Given the description of an element on the screen output the (x, y) to click on. 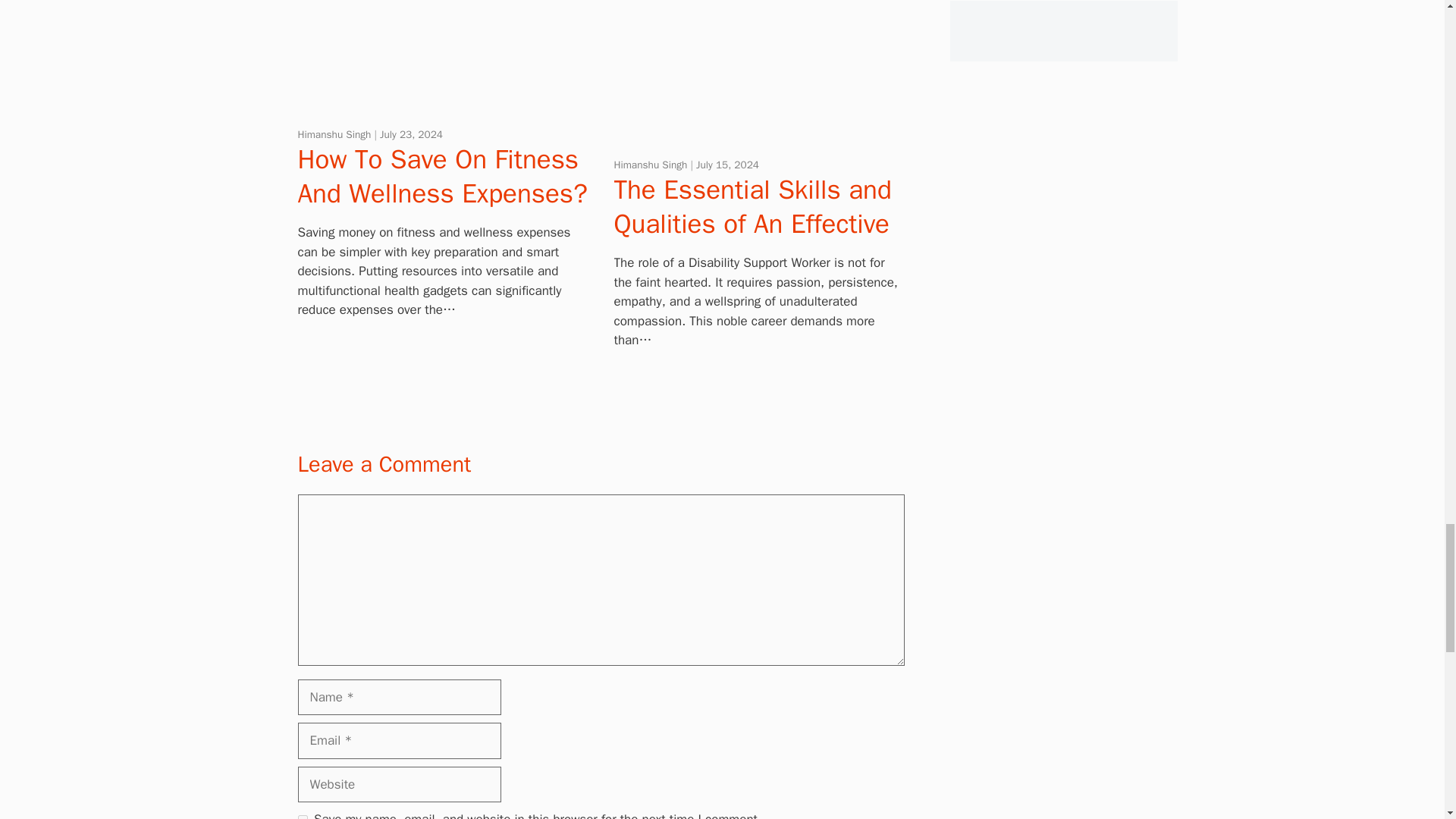
View all posts by Himanshu Singh (335, 133)
yes (302, 816)
Himanshu Singh (335, 133)
July 23, 2024 (411, 133)
How To Save On Fitness And Wellness Expenses? (441, 175)
